Given the description of an element on the screen output the (x, y) to click on. 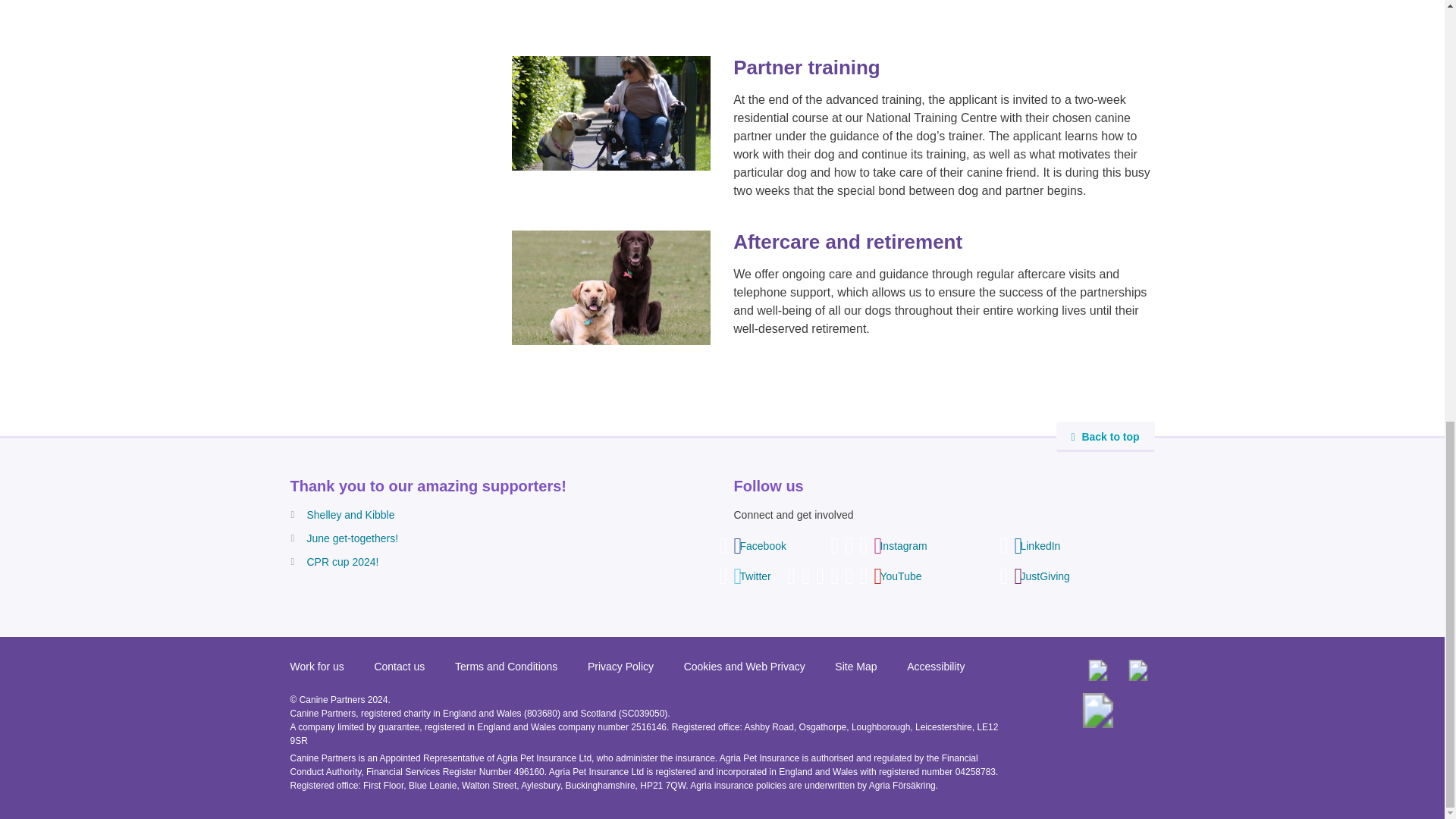
June get-togethers! (351, 538)
Back to top (1104, 436)
Shelley and Kibble (349, 514)
